Given the description of an element on the screen output the (x, y) to click on. 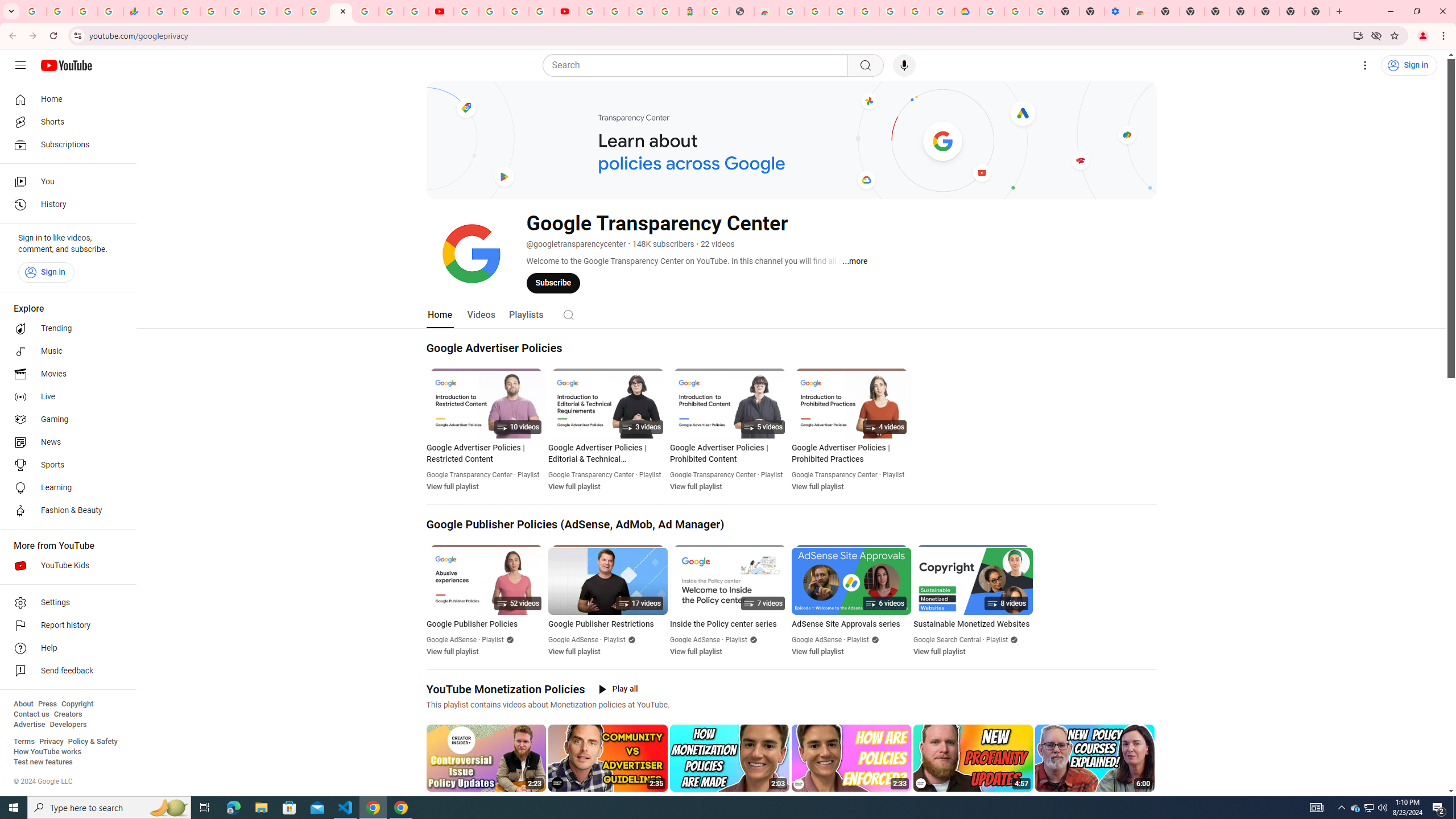
About (23, 703)
